Given the description of an element on the screen output the (x, y) to click on. 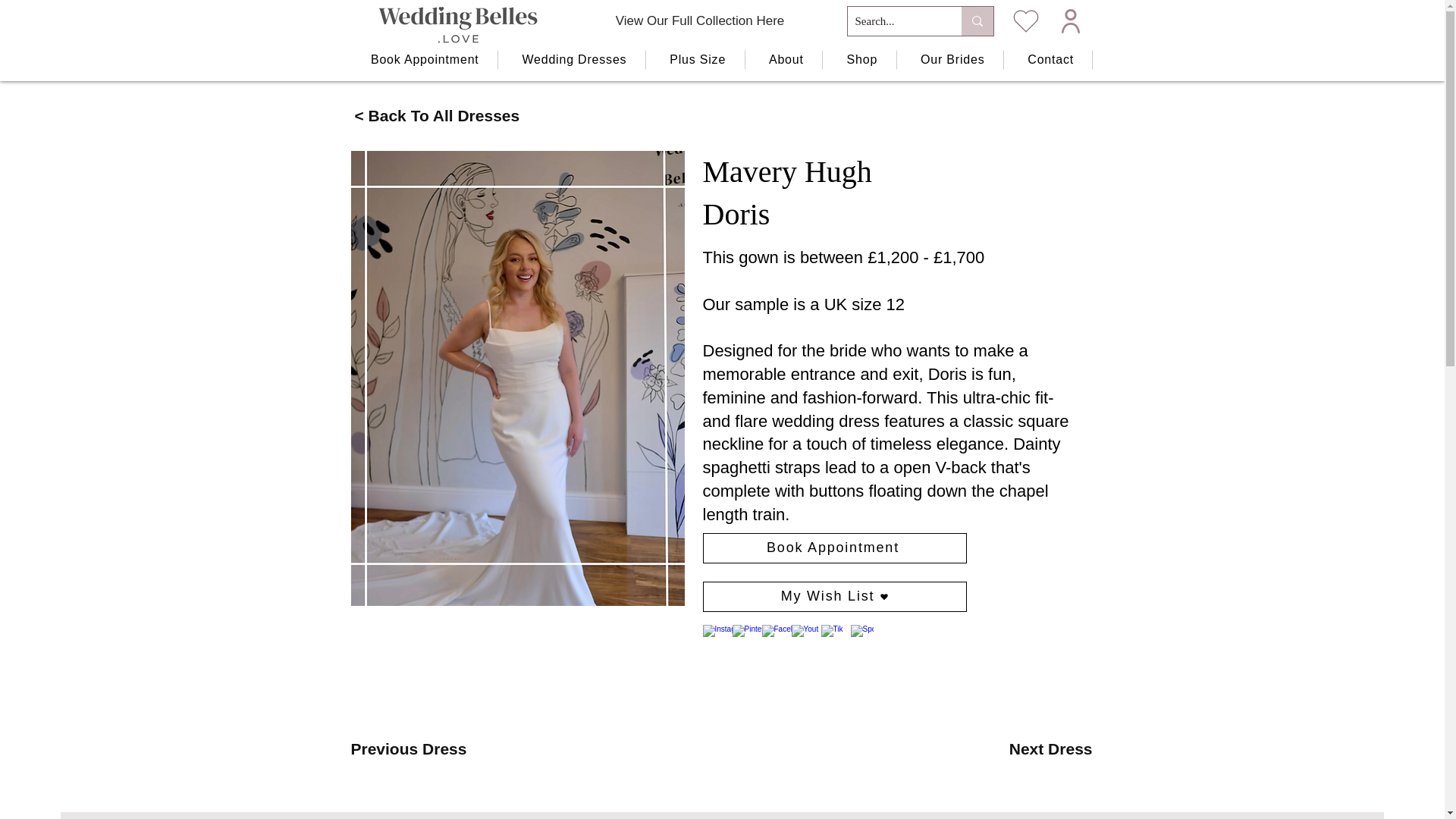
Plus Size (697, 59)
Book Appointment (425, 59)
Our Brides (952, 59)
Wedding Dresses (574, 59)
View Our Full Collection Here (700, 20)
